Given the description of an element on the screen output the (x, y) to click on. 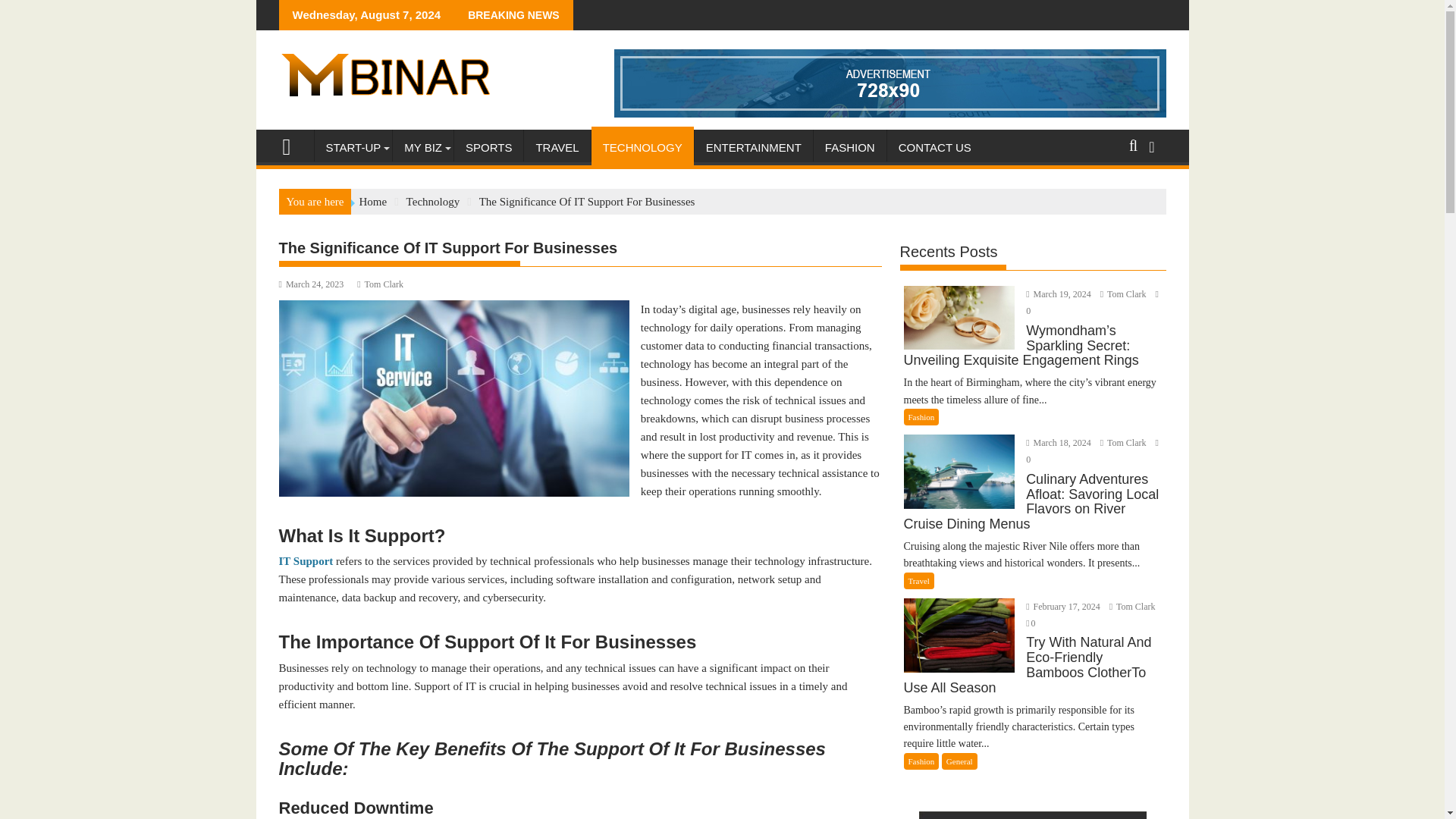
Tom Clark (1124, 294)
SPORTS (488, 147)
IT Support (306, 561)
Tom Clark (379, 284)
SuperMag (293, 145)
Home (372, 201)
TECHNOLOGY (642, 147)
MY BIZ (422, 147)
Tom Clark (1124, 442)
ENTERTAINMENT (753, 147)
